Given the description of an element on the screen output the (x, y) to click on. 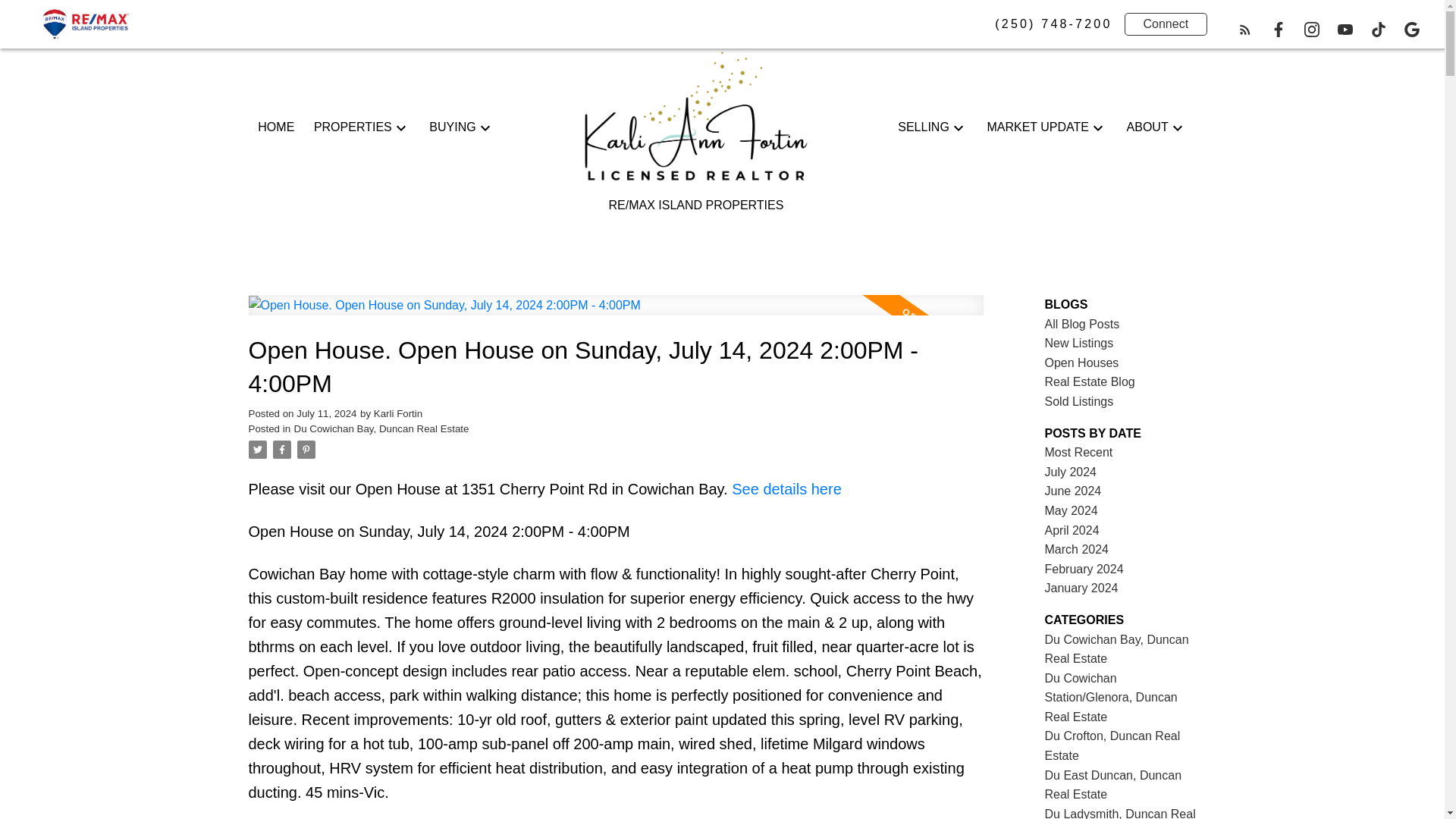
Read full post (616, 313)
HOME (275, 127)
Connect (1165, 24)
